Given the description of an element on the screen output the (x, y) to click on. 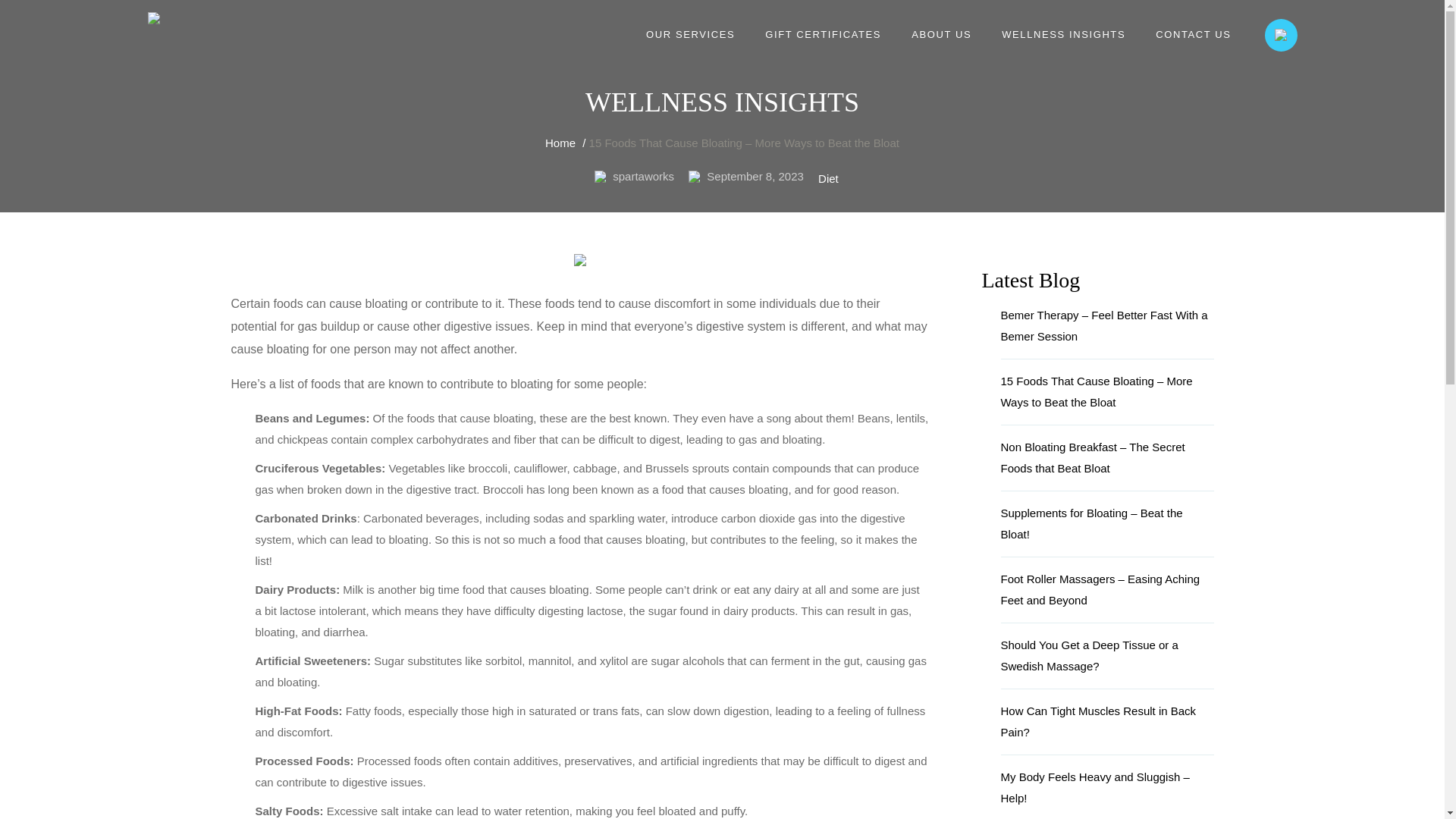
Home (559, 142)
Should You Get a Deep Tissue or a Swedish Massage? (1107, 661)
WELLNESS INSIGHTS (1063, 34)
GIFT CERTIFICATES (822, 34)
CONTACT US (1193, 34)
Diet (828, 178)
OUR SERVICES (690, 34)
How Can Tight Muscles Result in Back Pain? (1107, 728)
ABOUT US (940, 34)
